Given the description of an element on the screen output the (x, y) to click on. 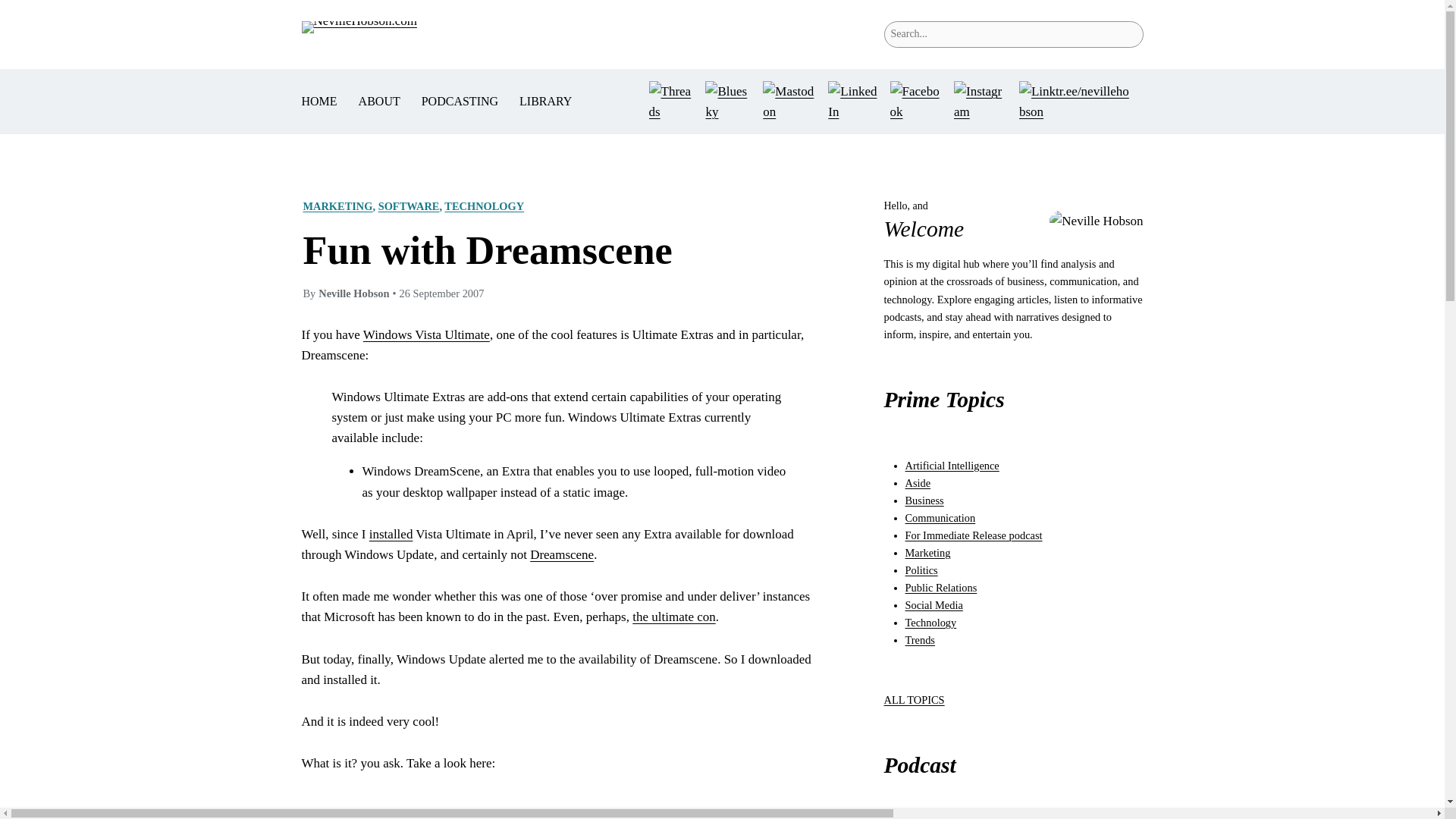
26 September 2007 (440, 293)
TECHNOLOGY (484, 205)
LIBRARY (545, 101)
MARKETING (337, 205)
installed (391, 534)
Communication (940, 517)
Aside (918, 482)
PODCASTING (459, 101)
Business (924, 500)
HOME (319, 101)
Dreamscene (561, 554)
Artificial Intelligence (951, 465)
SOFTWARE (408, 205)
Windows Vista Ultimate (425, 334)
Fun with Dreamscene (487, 249)
